Given the description of an element on the screen output the (x, y) to click on. 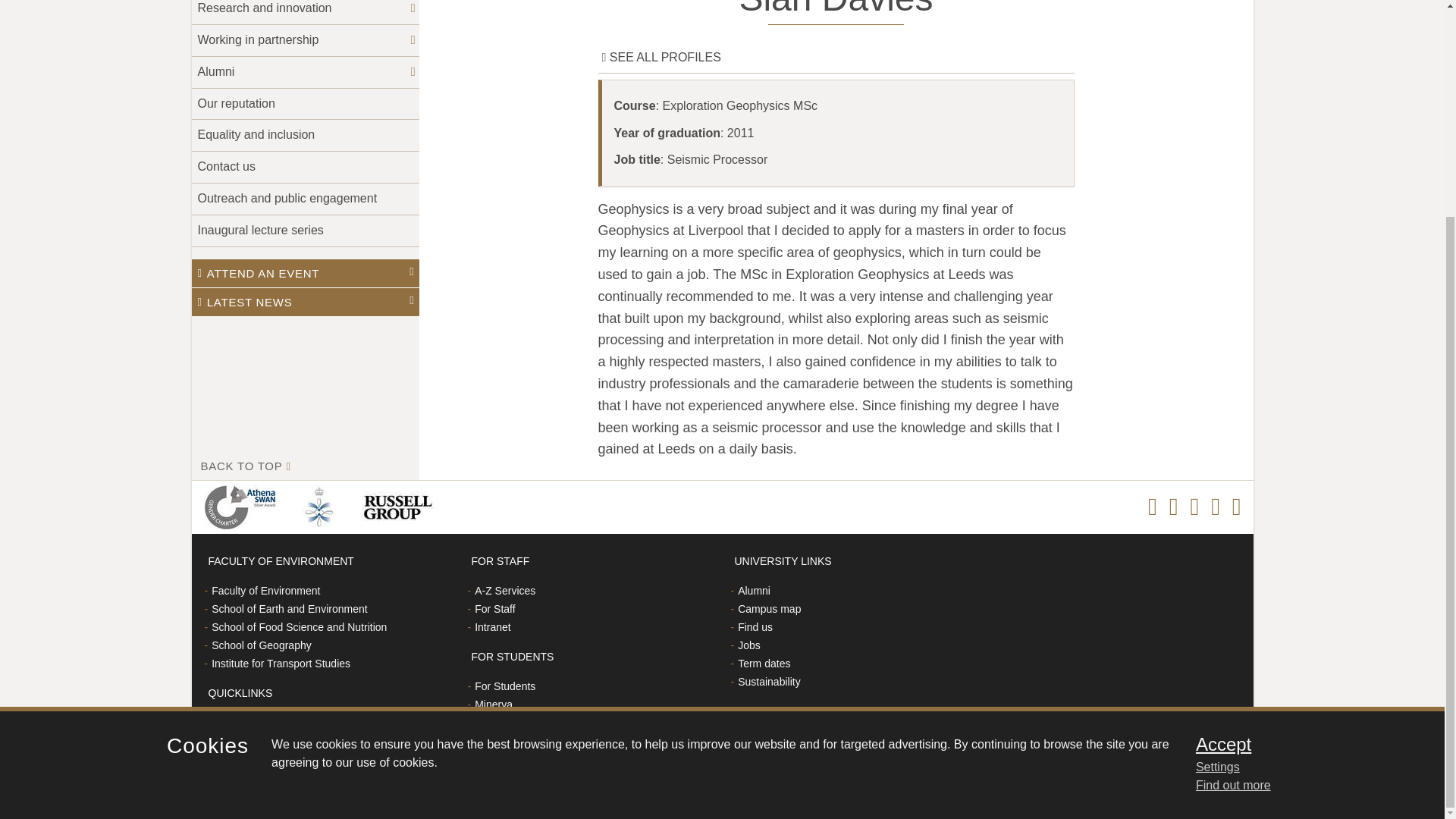
Settings (1300, 483)
Go to YouTube page (1236, 507)
Visit Queen's anniversary prize (321, 506)
Find out more (1233, 500)
Visit Russell Group (400, 506)
Visit Athena SWAN Silver award (242, 506)
Go to Instagram page (1173, 507)
Go to Twitter page (1193, 507)
Accept (1300, 460)
Go to Weibo page (1215, 507)
Go to Facebook page (1152, 507)
